Given the description of an element on the screen output the (x, y) to click on. 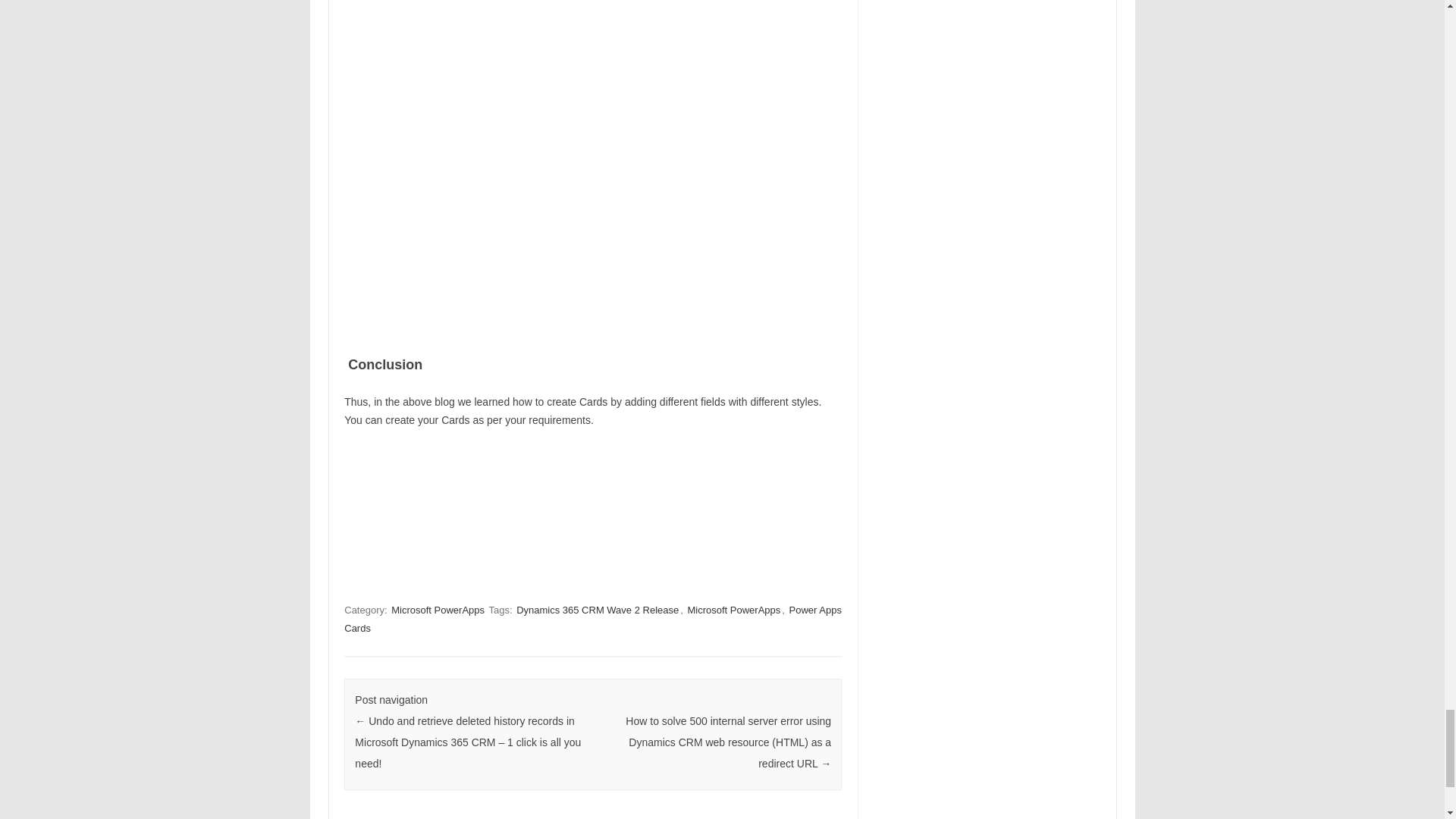
Microsoft PowerApps (438, 609)
Dynamics 365 CRM Wave 2 Release (597, 609)
